Given the description of an element on the screen output the (x, y) to click on. 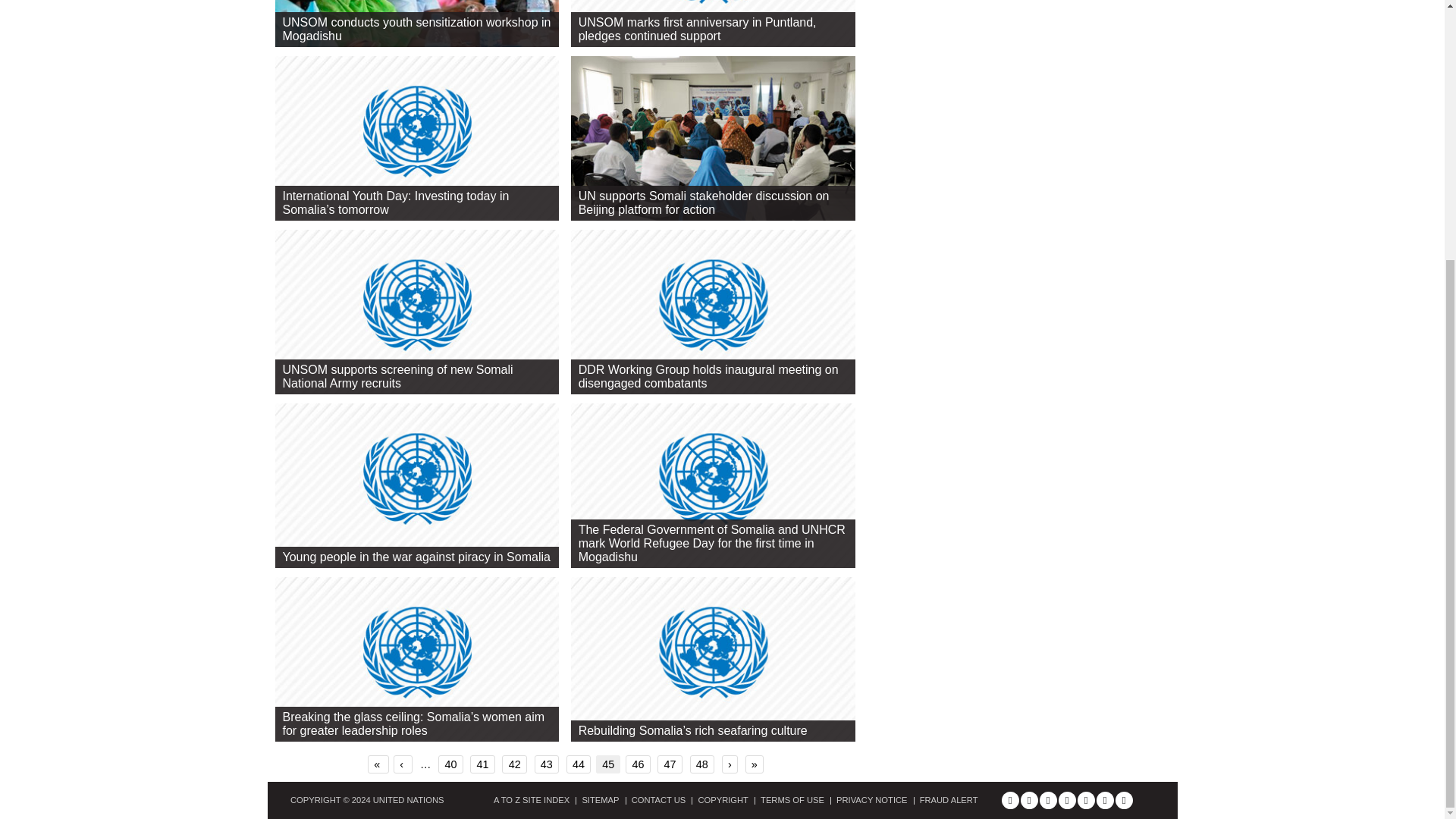
Go to page 40 (450, 764)
Go to page 46 (637, 764)
Go to page 42 (513, 764)
Go to page 47 (669, 764)
Go to page 43 (546, 764)
Go to page 44 (578, 764)
Go to page 41 (482, 764)
